Given the description of an element on the screen output the (x, y) to click on. 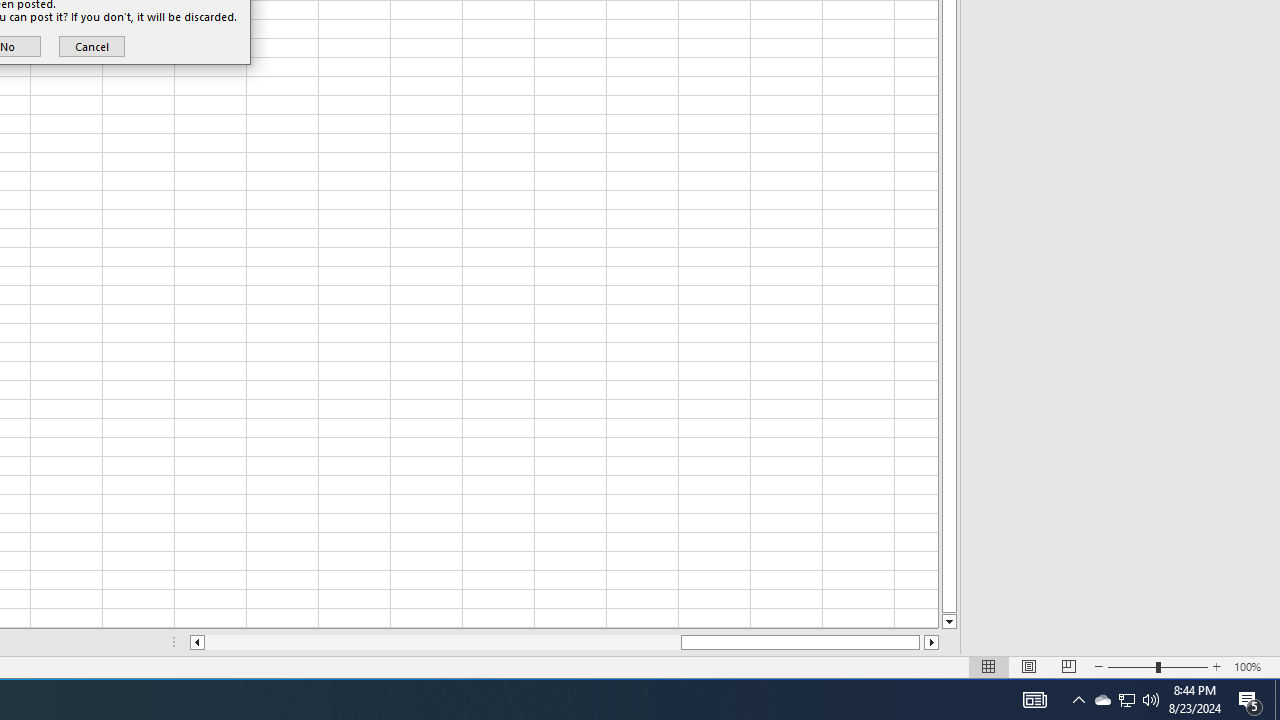
Show desktop (1277, 699)
User Promoted Notification Area (1126, 699)
Notification Chevron (1102, 699)
Cancel (1078, 699)
AutomationID: 4105 (91, 46)
